Given the description of an element on the screen output the (x, y) to click on. 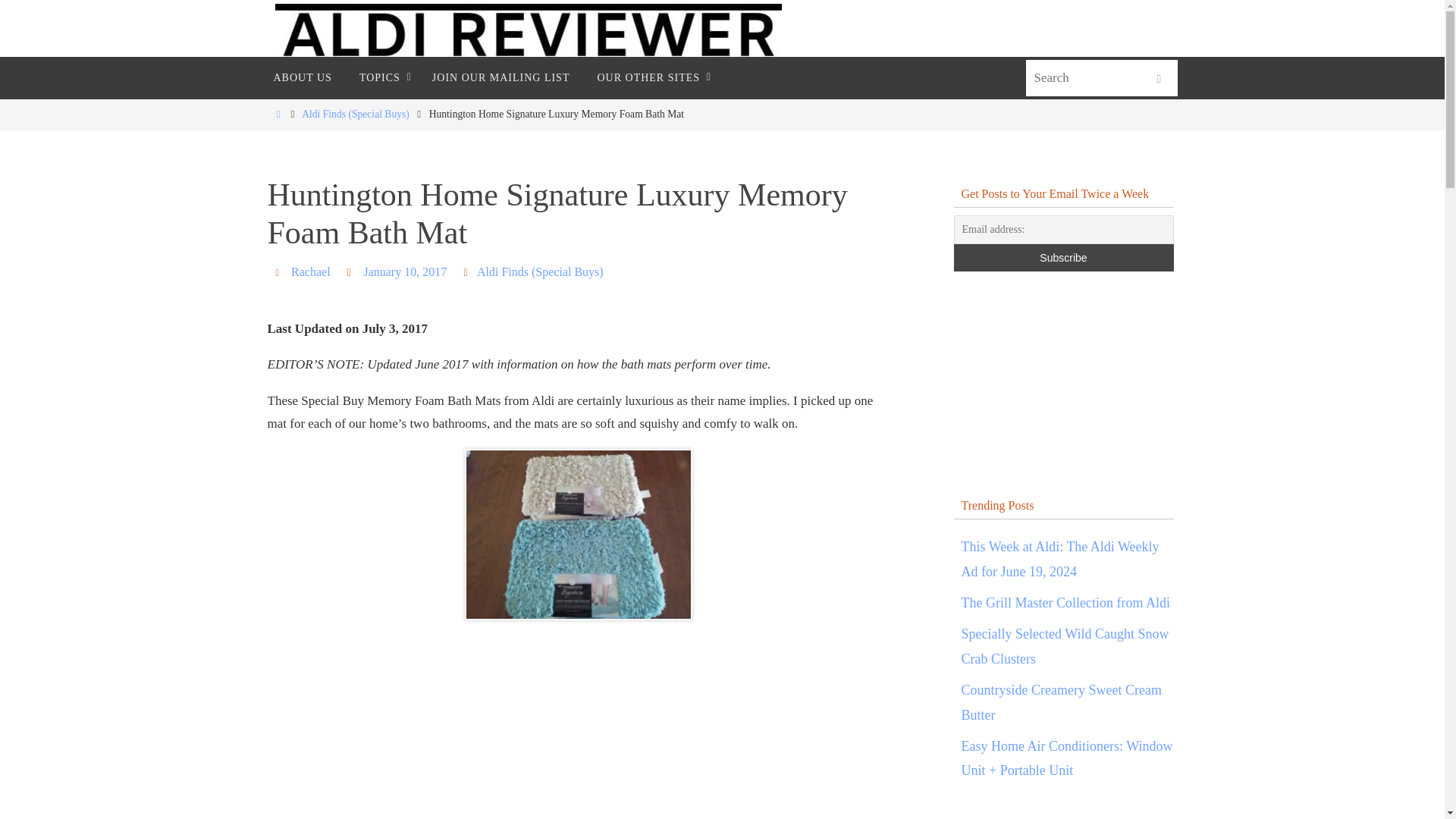
Author  (278, 271)
Aldi Reviewer (527, 34)
Date (351, 271)
January 10, 2017 (404, 272)
Subscribe (1063, 257)
View all posts by Rachael (310, 272)
Home (277, 113)
OUR OTHER SITES (650, 77)
TOPICS (382, 77)
Search (1158, 78)
